Given the description of an element on the screen output the (x, y) to click on. 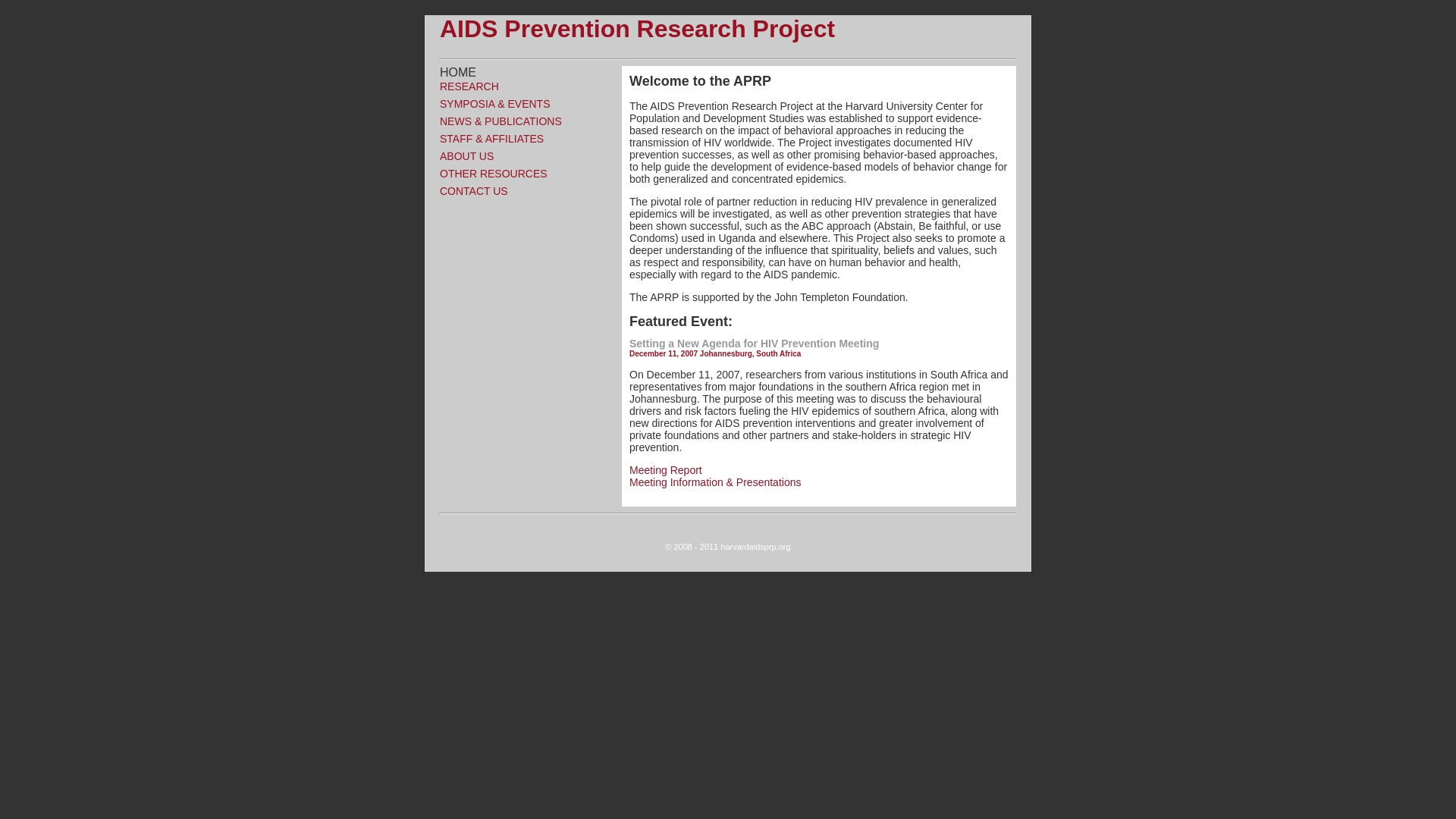
OTHER RESOURCES (523, 173)
Meeting Report (664, 469)
ABOUT US (523, 155)
RESEARCH (523, 86)
CONTACT US (523, 191)
